Given the description of an element on the screen output the (x, y) to click on. 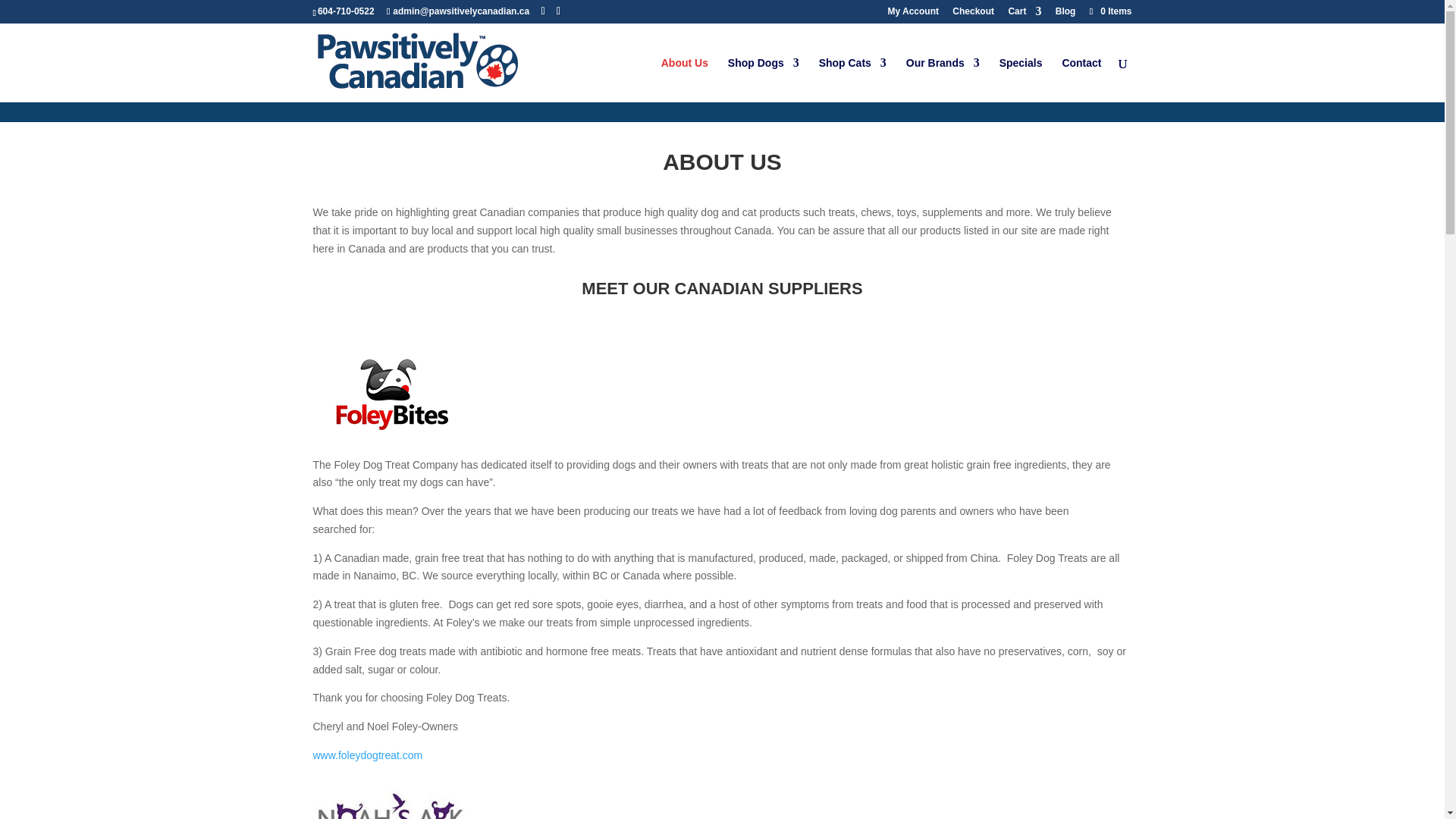
Shop Dogs (763, 79)
0 Items (1108, 10)
My Account (912, 14)
Checkout (973, 14)
Our Brands (942, 79)
About Us (684, 79)
Blog (1065, 14)
Cart (1024, 14)
Shop Cats (852, 79)
